Given the description of an element on the screen output the (x, y) to click on. 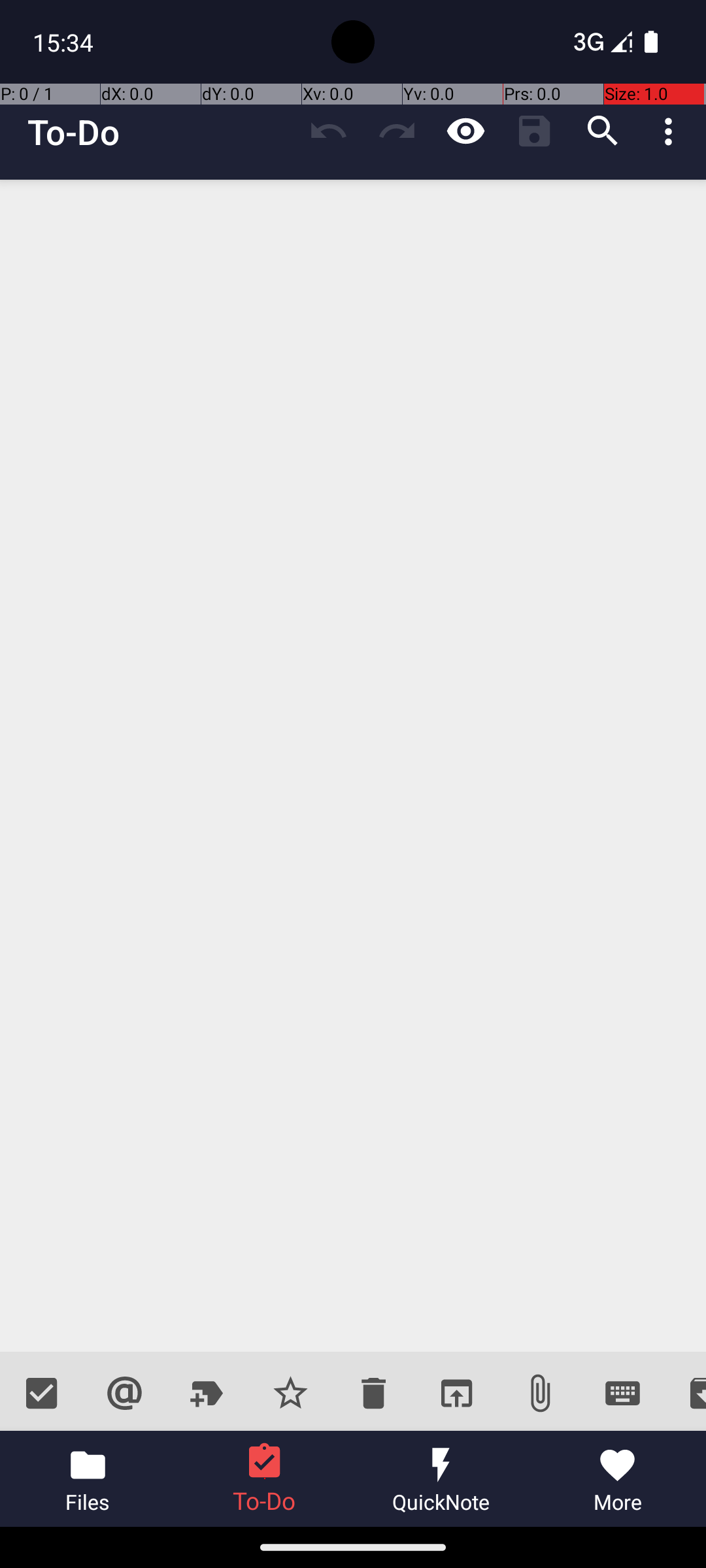
Toggle done Element type: android.widget.ImageView (41, 1392)
Add context Element type: android.widget.ImageView (124, 1392)
Add project Element type: android.widget.ImageView (207, 1392)
Archive completed tasks Element type: android.widget.ImageView (685, 1392)
